Given the description of an element on the screen output the (x, y) to click on. 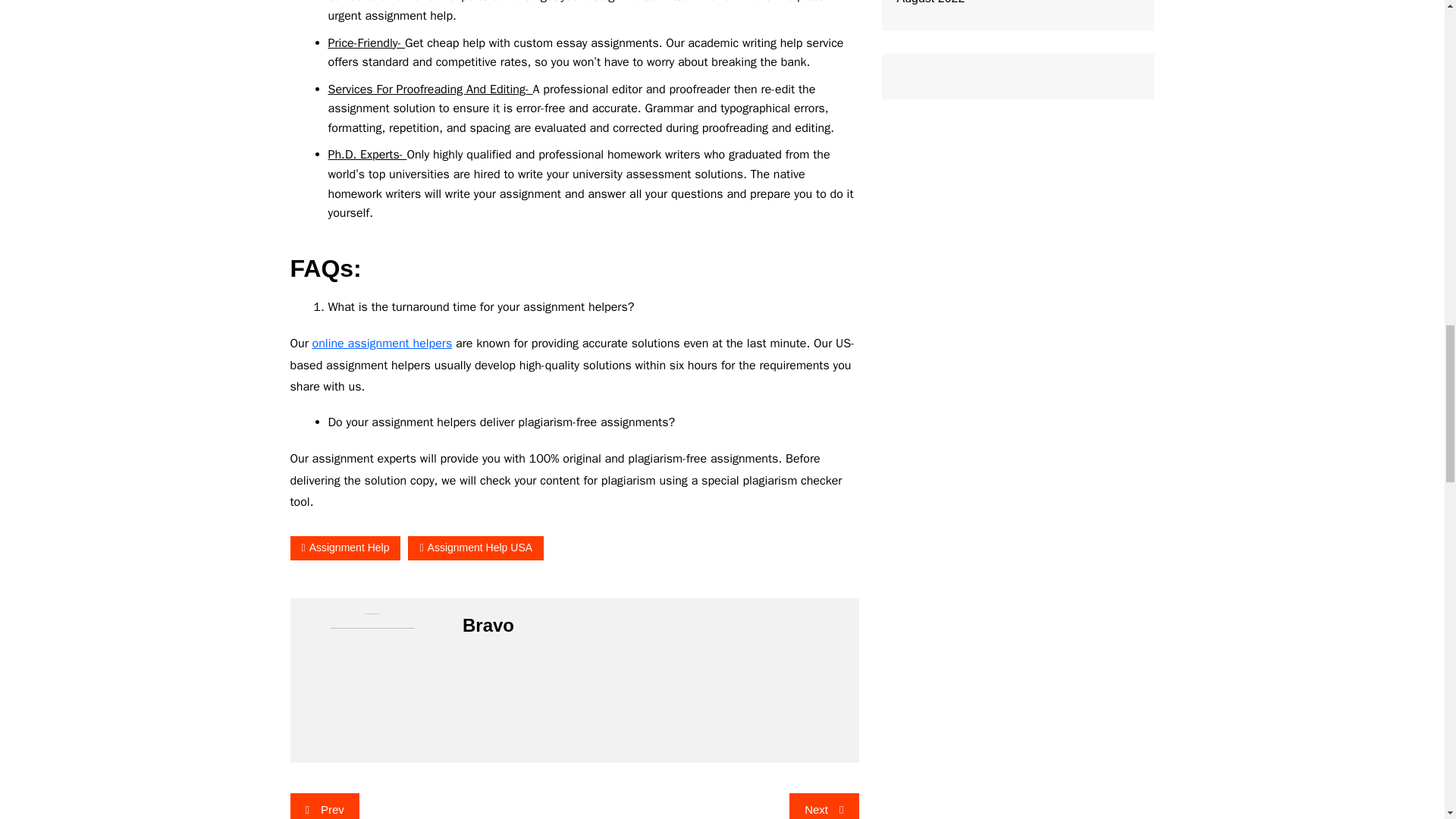
online assignment helpers (382, 343)
Prev (323, 806)
Assignment Help (344, 547)
Assignment Help USA (475, 547)
Next (824, 806)
